Given the description of an element on the screen output the (x, y) to click on. 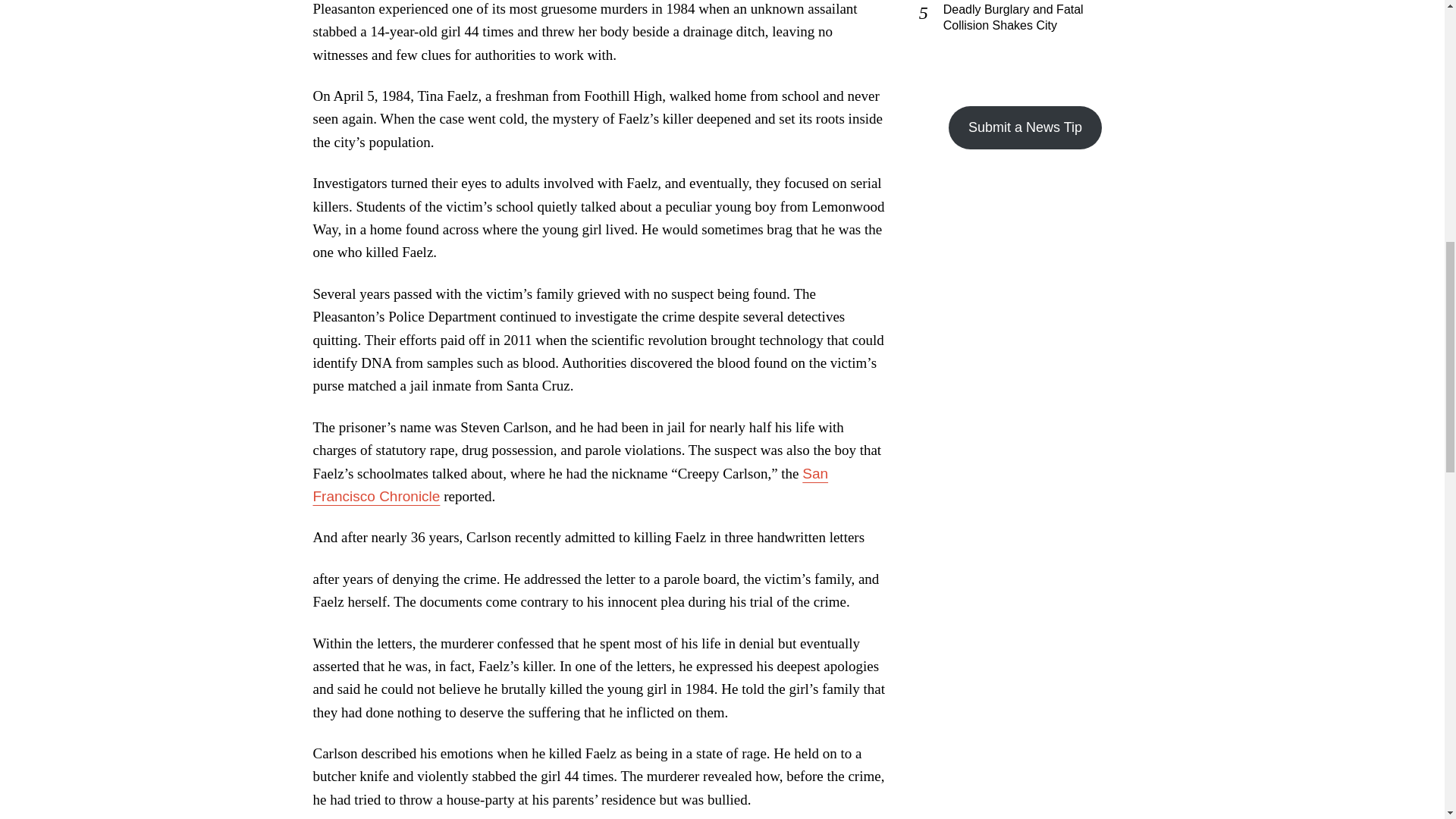
San Francisco Chronicle (570, 485)
